Given the description of an element on the screen output the (x, y) to click on. 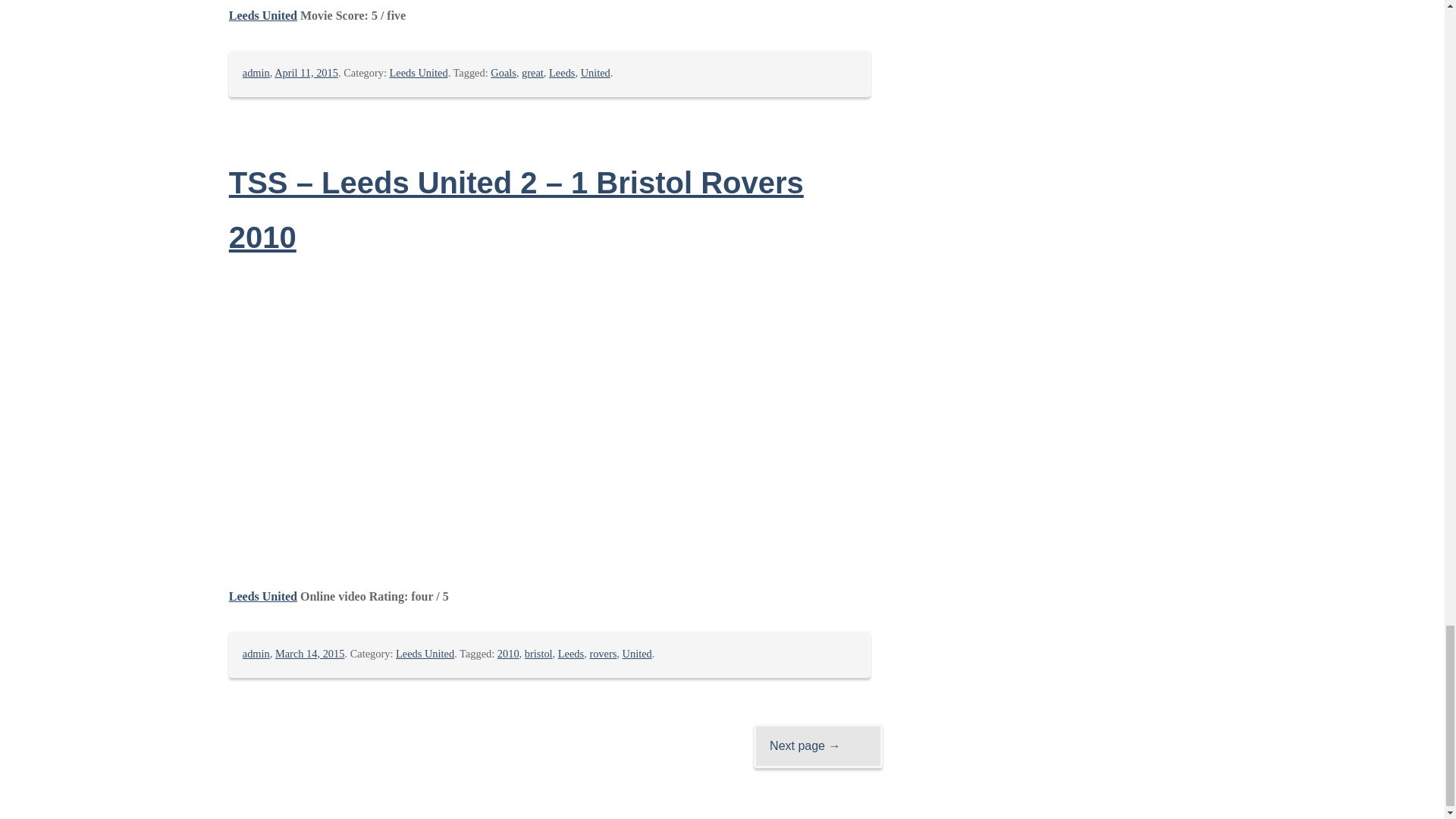
View all posts by admin (256, 72)
View all posts by admin (256, 653)
